Given the description of an element on the screen output the (x, y) to click on. 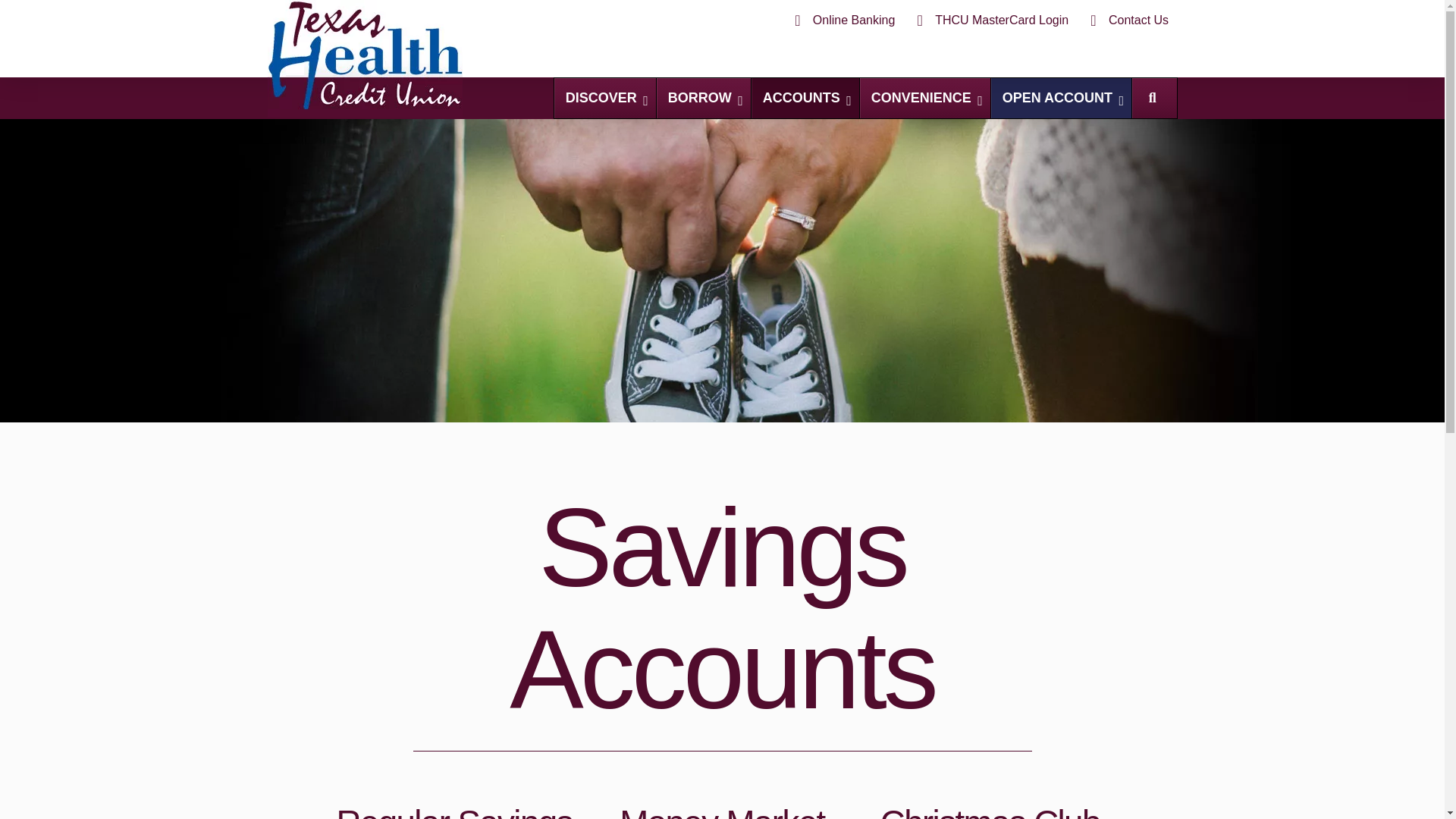
Contact Us (1127, 20)
Search (1151, 98)
Online Banking (841, 20)
DISCOVER (605, 97)
THCU MasterCard Login (865, 97)
BORROW (990, 20)
Skip Navigation (703, 97)
